Given the description of an element on the screen output the (x, y) to click on. 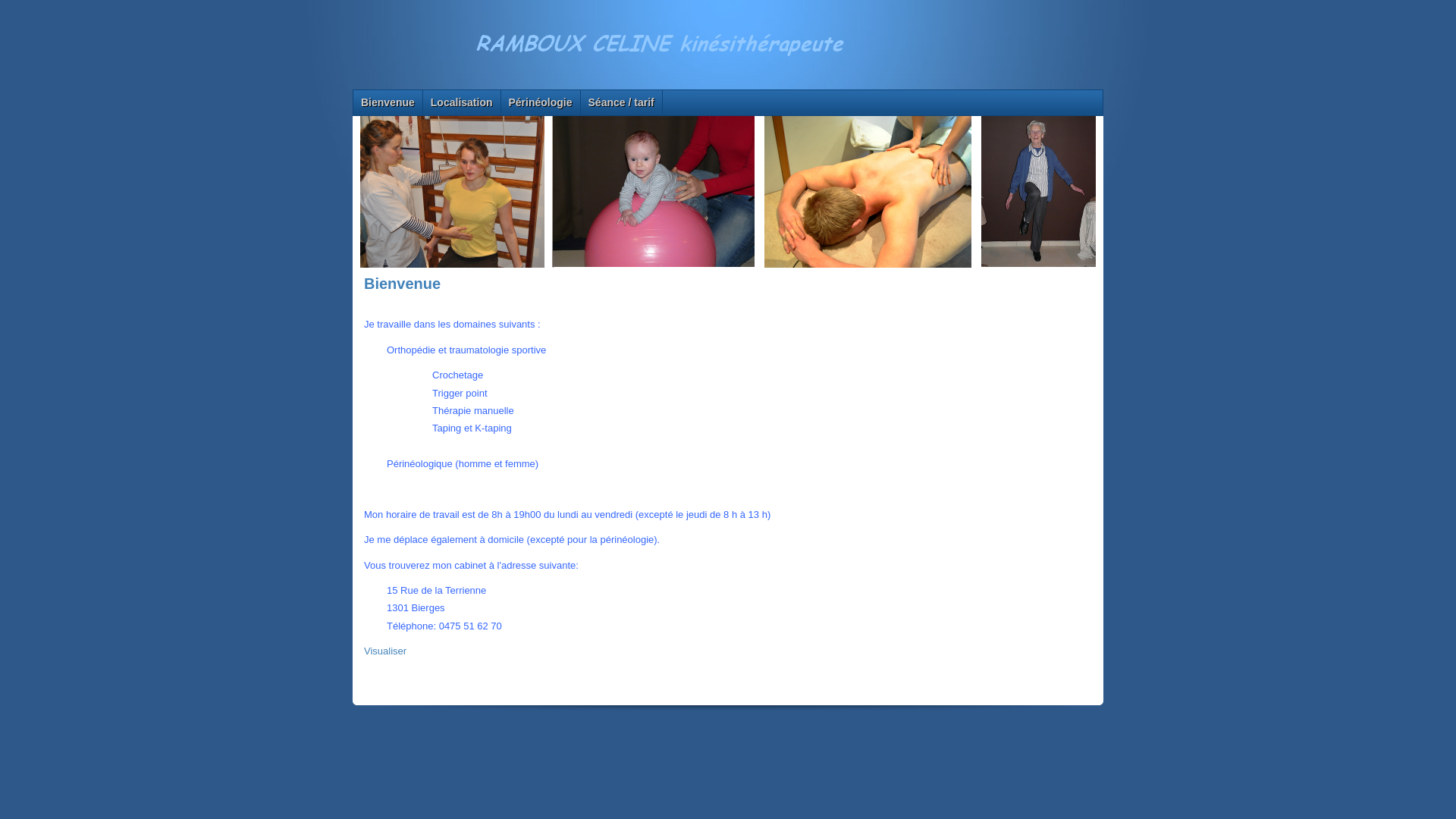
Visualiser Element type: text (385, 650)
Localisation Element type: text (461, 102)
Bienvenue Element type: text (387, 102)
